Given the description of an element on the screen output the (x, y) to click on. 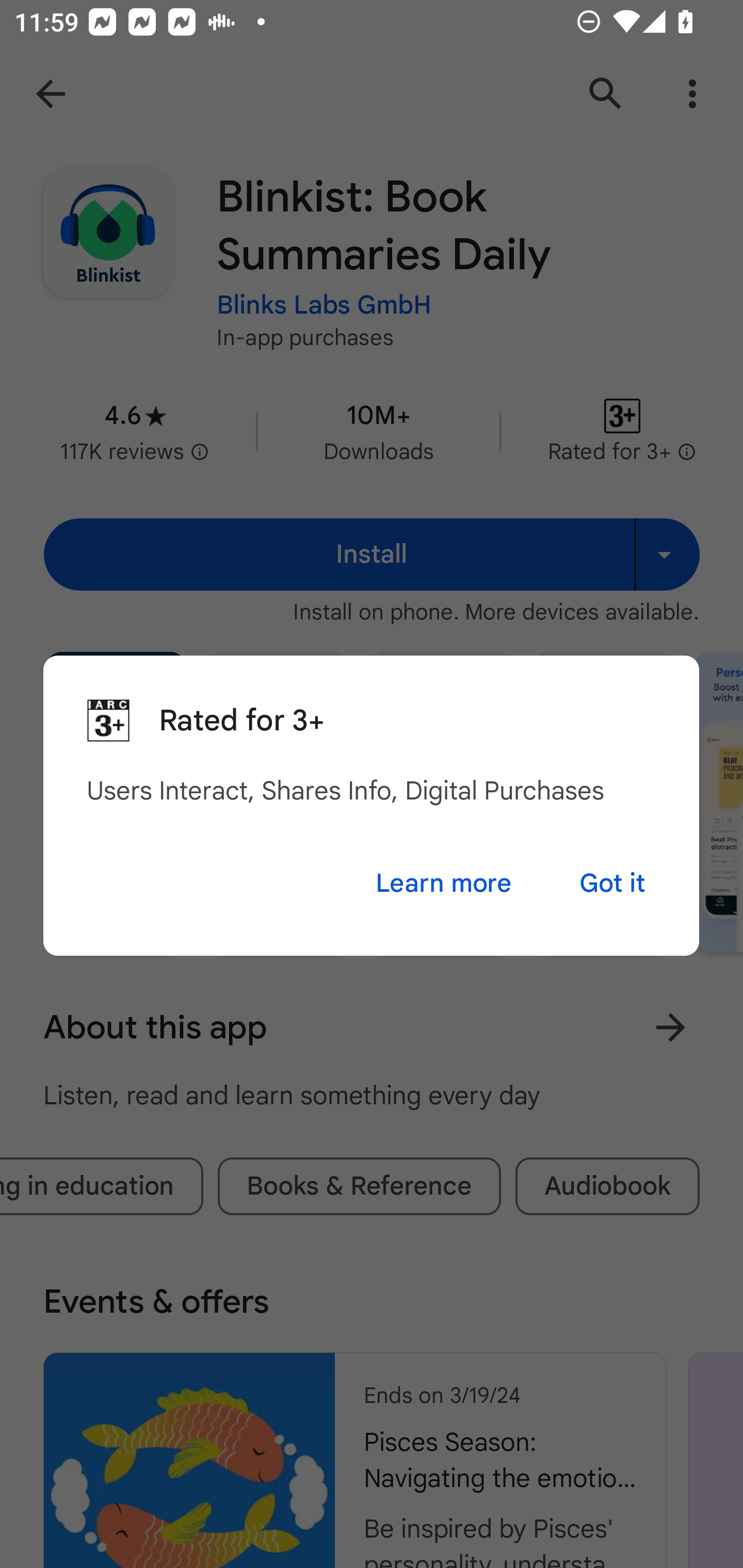
Learn more (443, 883)
Got it (612, 883)
